Given the description of an element on the screen output the (x, y) to click on. 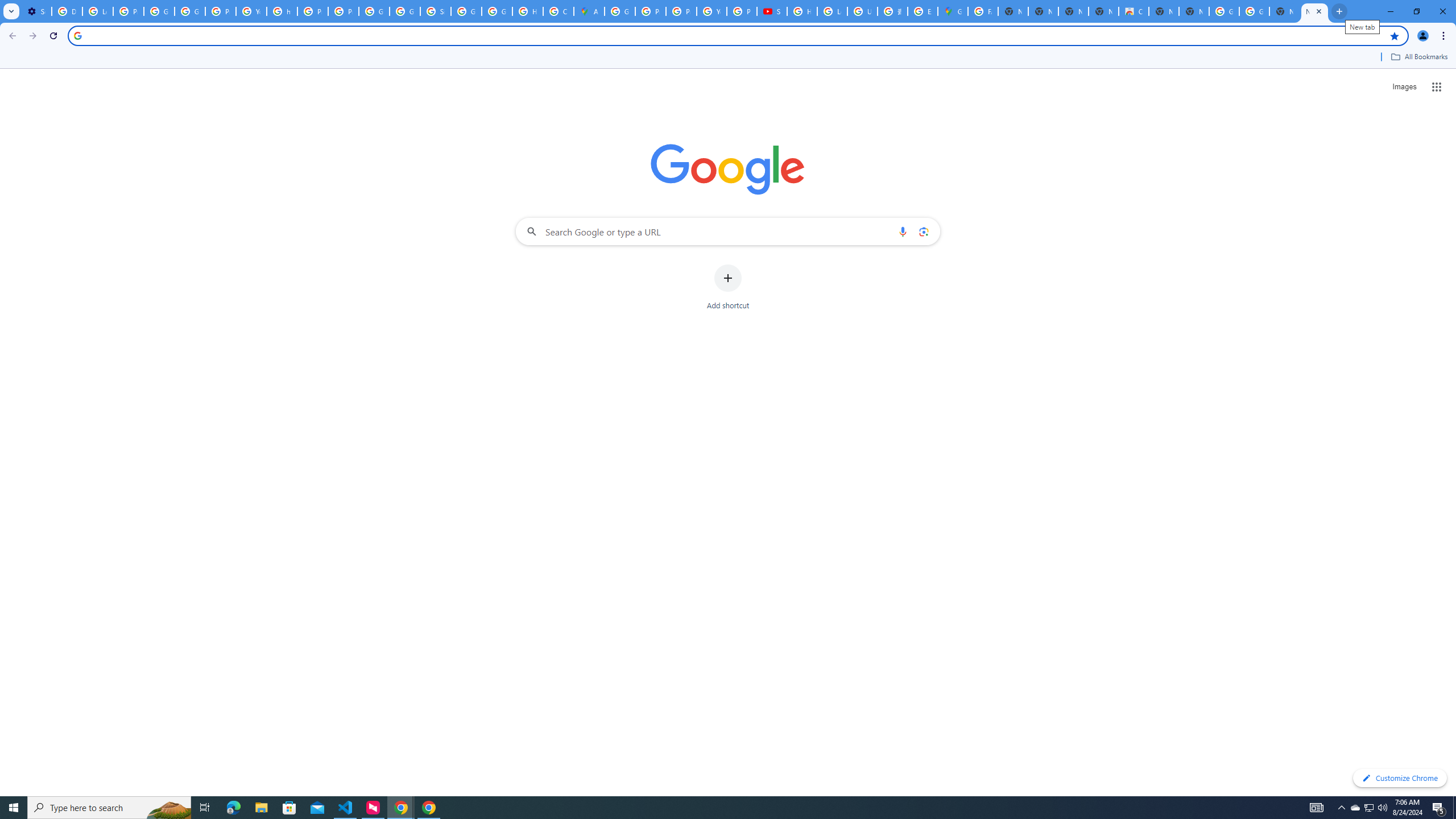
New Tab (1193, 11)
Google Account Help (158, 11)
Create your Google Account (558, 11)
Google Images (1224, 11)
